Given the description of an element on the screen output the (x, y) to click on. 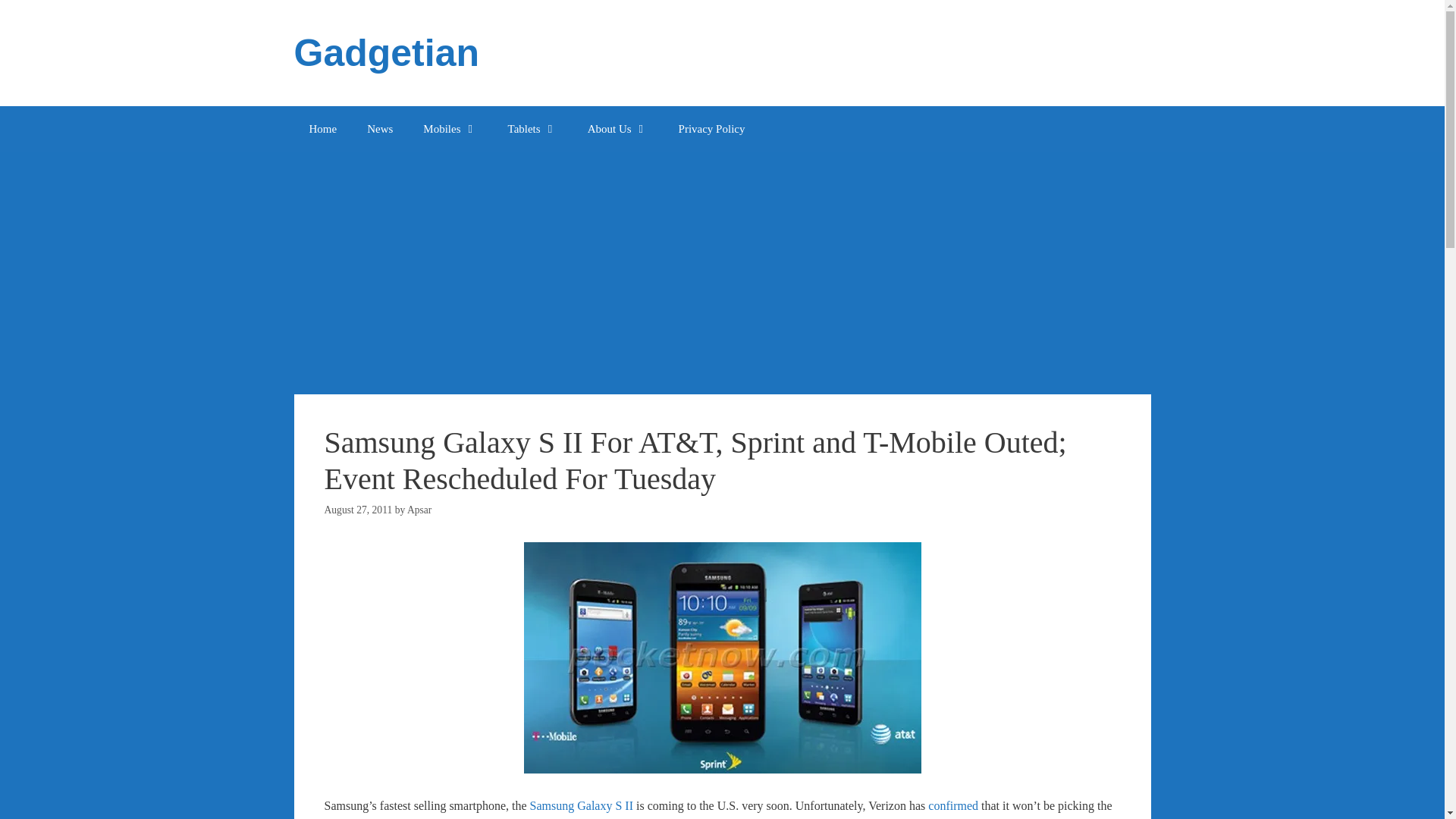
confirmed (953, 805)
About Us (617, 128)
Gadgetian (386, 52)
Apsar (418, 509)
Samsung Galaxy S II (581, 805)
Samsung Galaxy S II At Gadgetian.com (581, 805)
Tablets (532, 128)
Home (323, 128)
Mobiles (449, 128)
